Given the description of an element on the screen output the (x, y) to click on. 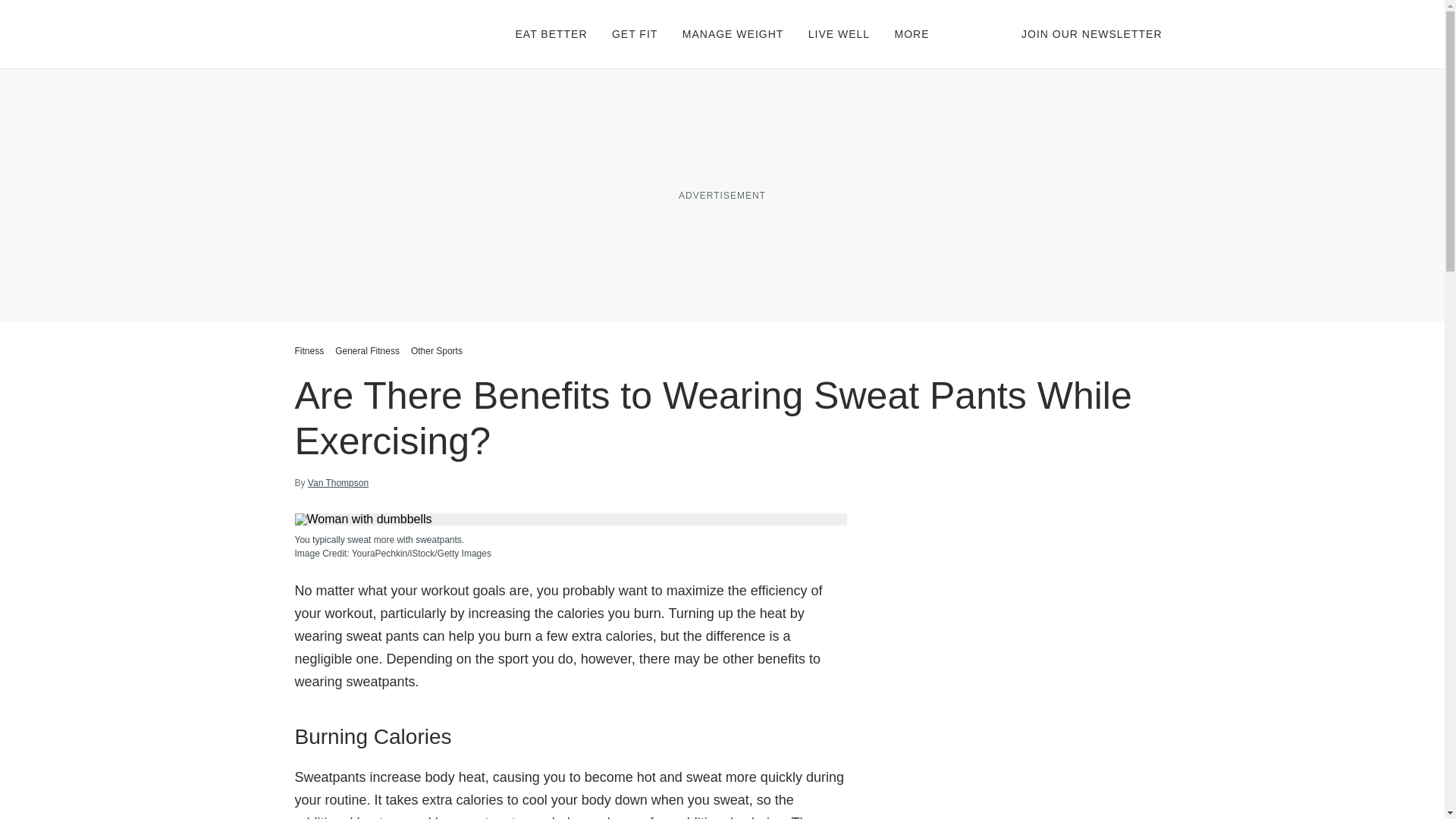
JOIN OUR NEWSLETTER (1091, 33)
EAT BETTER (551, 33)
Fitness (310, 350)
Other Sports (436, 350)
General Fitness (367, 350)
GET FIT (634, 33)
LIVE WELL (838, 33)
Van Thompson (337, 482)
MANAGE WEIGHT (733, 33)
